Given the description of an element on the screen output the (x, y) to click on. 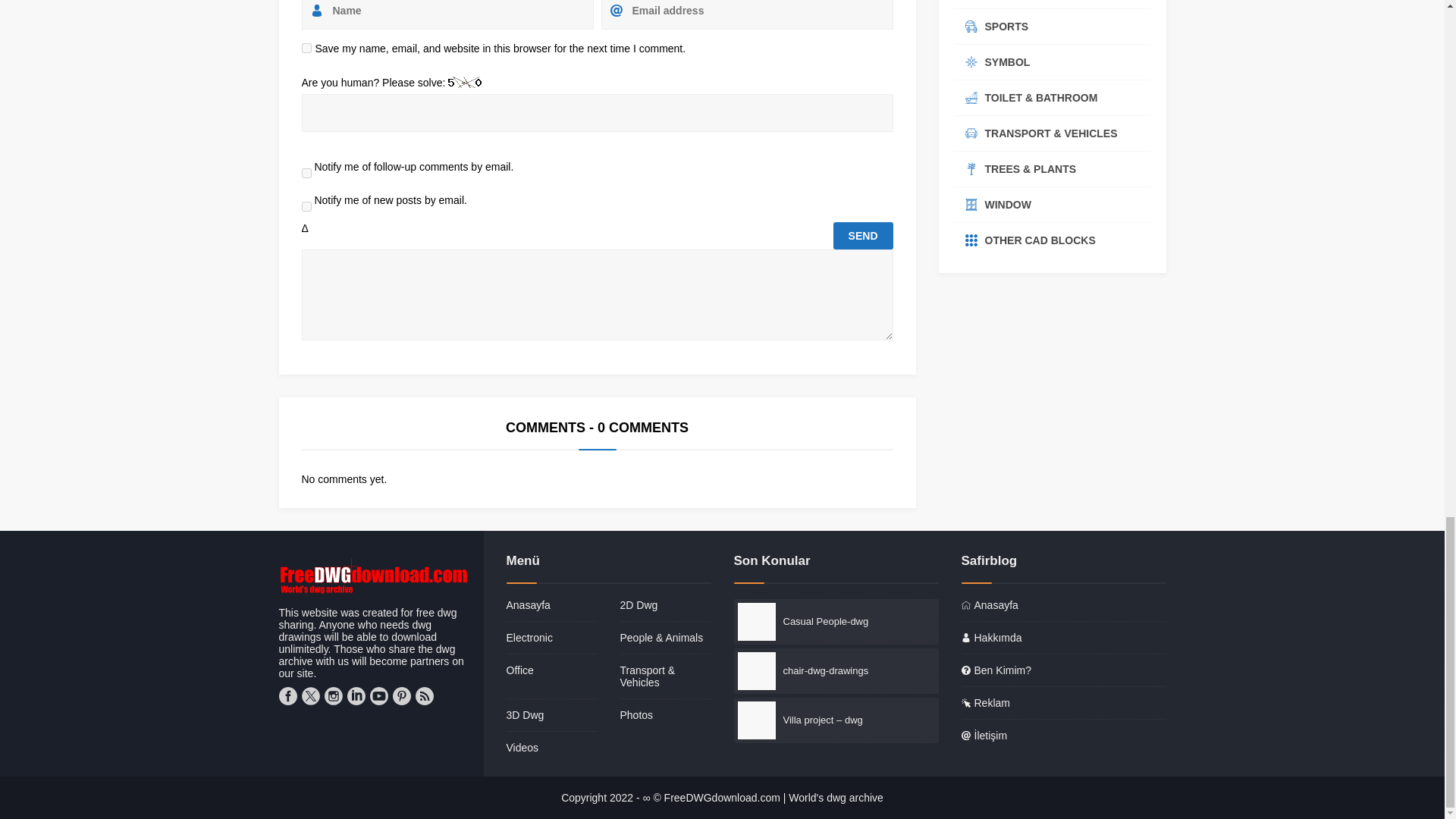
subscribe (306, 173)
subscribe (306, 206)
Send (862, 235)
yes (306, 48)
